Given the description of an element on the screen output the (x, y) to click on. 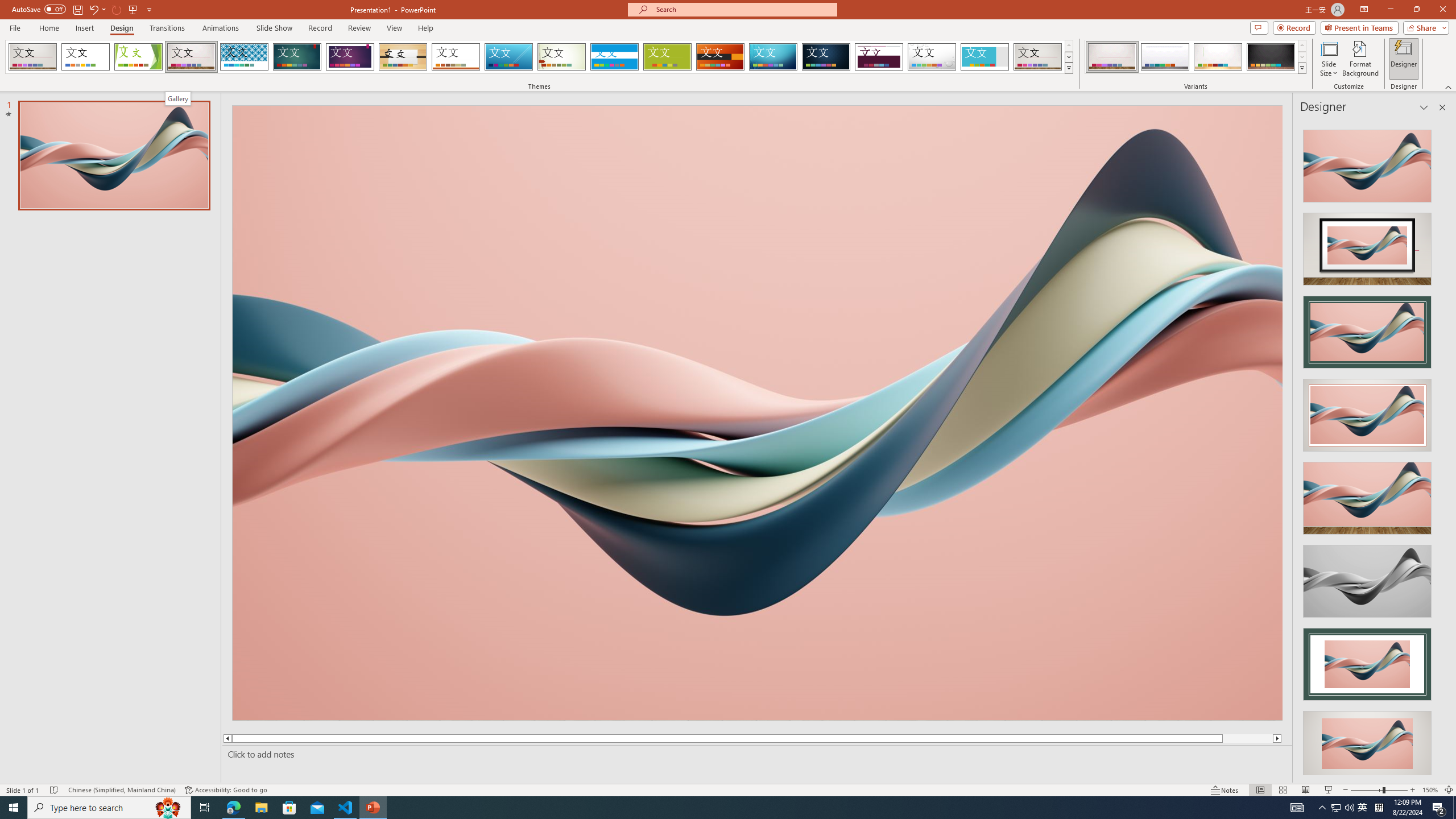
Dividend (879, 56)
Slide Size (1328, 58)
Circuit (772, 56)
AutomationID: ThemeVariantsGallery (1195, 56)
Basis (667, 56)
Organic (403, 56)
Droplet (931, 56)
